Given the description of an element on the screen output the (x, y) to click on. 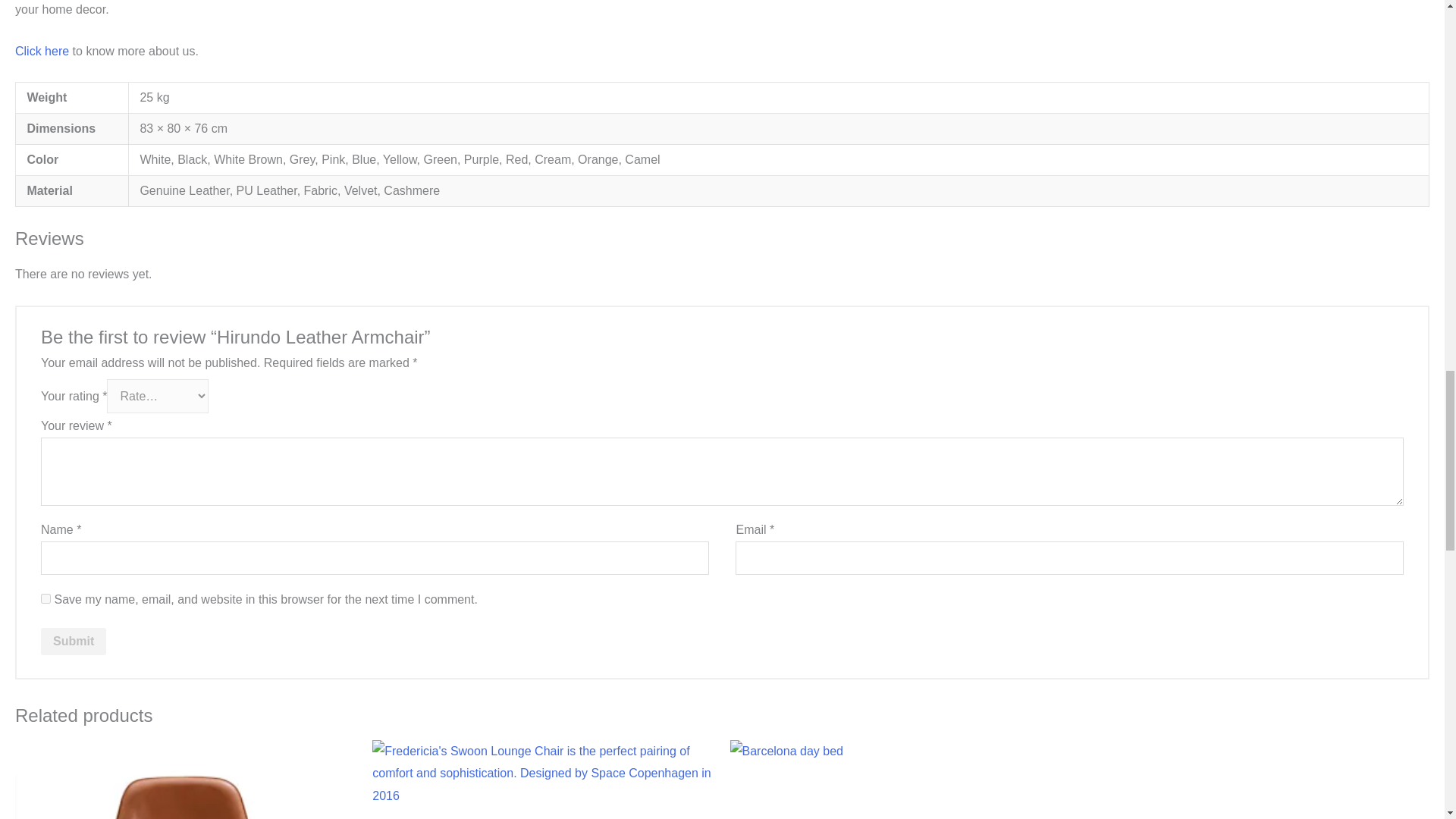
Submit (73, 641)
yes (45, 598)
